Given the description of an element on the screen output the (x, y) to click on. 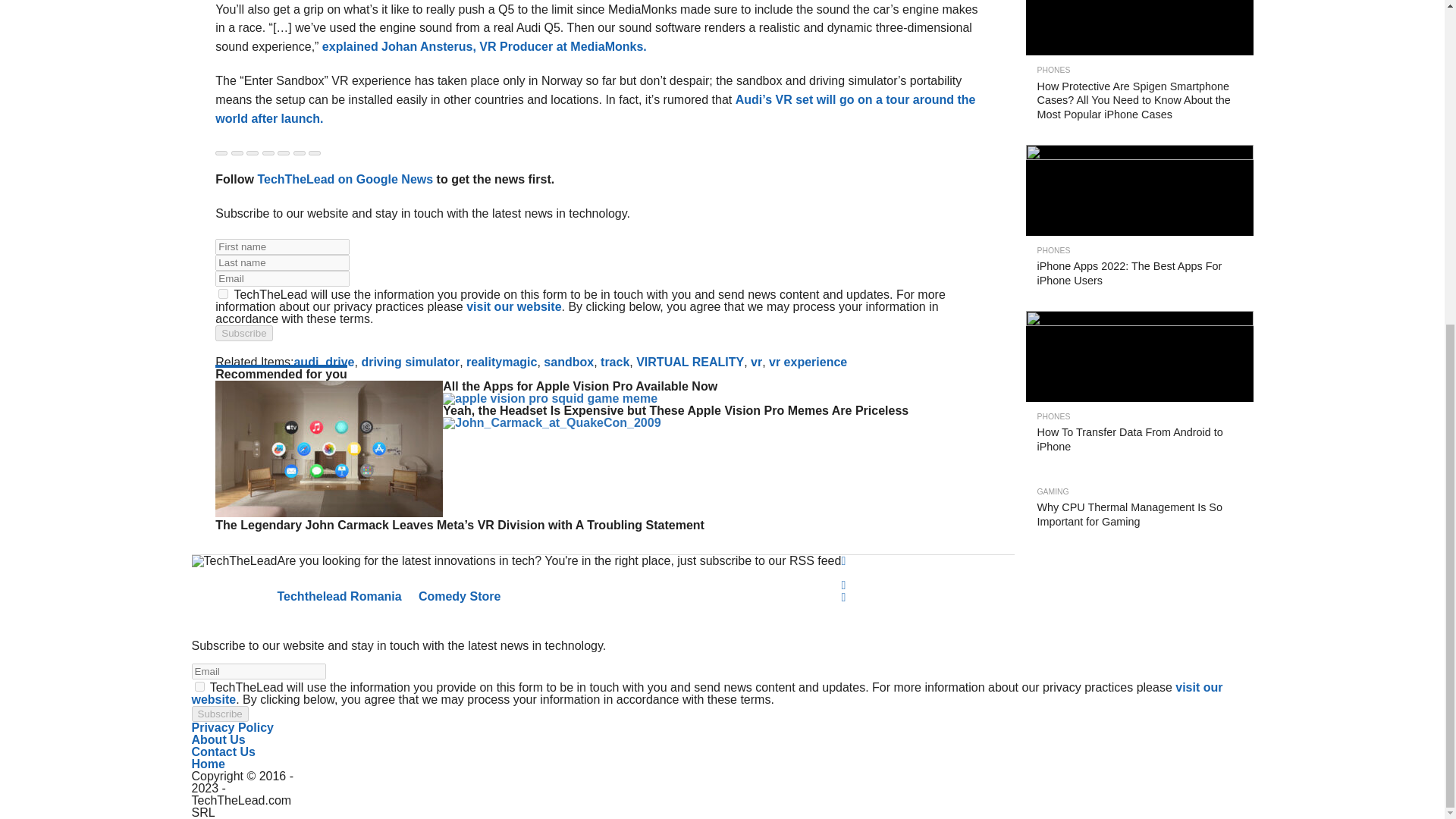
1 (223, 293)
Subscribe (243, 333)
Subscribe (218, 713)
1 (198, 686)
All the Apps for Apple Vision Pro Available Now (328, 512)
